Given the description of an element on the screen output the (x, y) to click on. 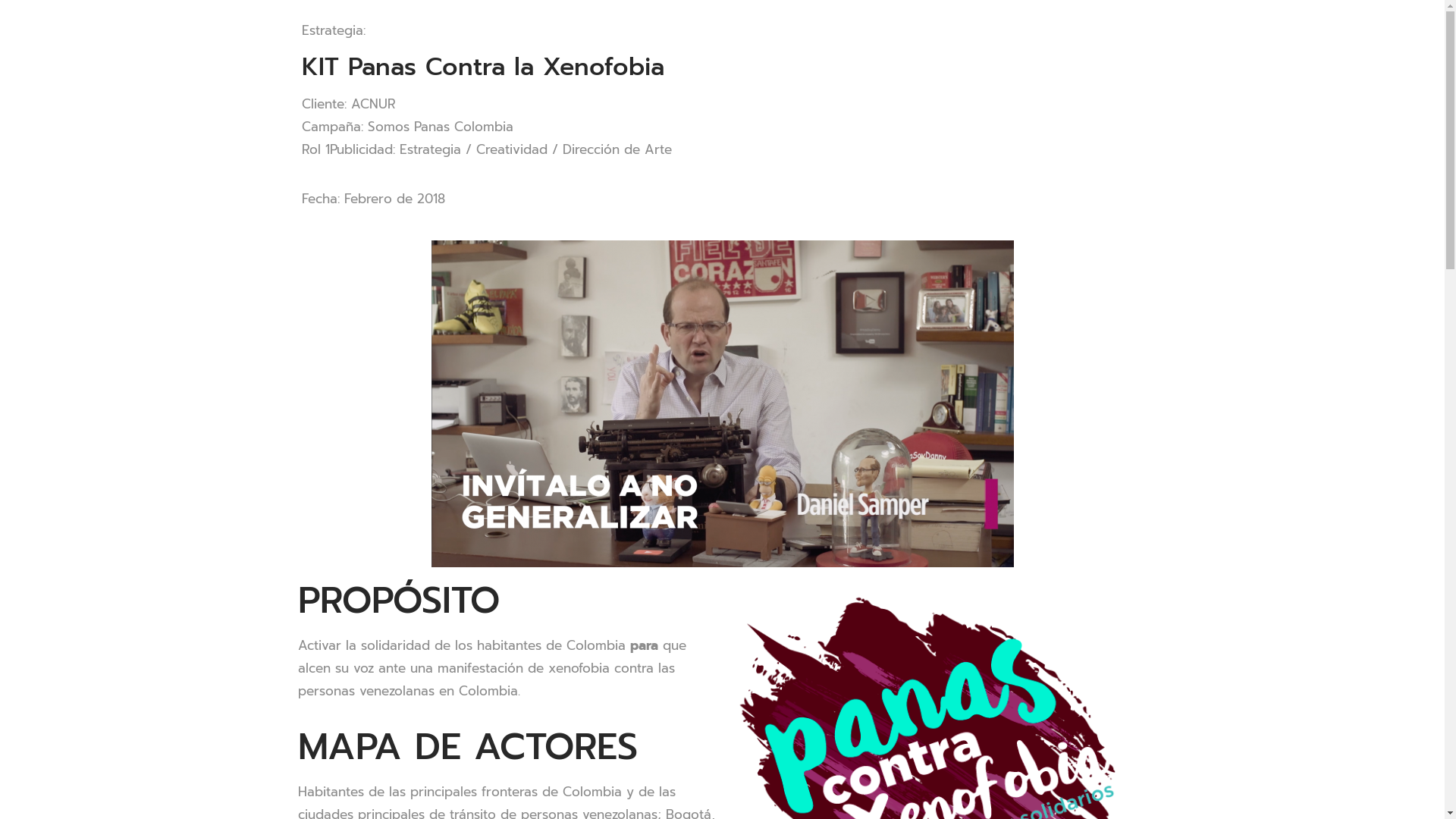
Conversemos Element type: text (722, 667)
Audiovisual Element type: text (729, 726)
Recientes Element type: text (497, 726)
App y Web Element type: text (939, 726)
